Given the description of an element on the screen output the (x, y) to click on. 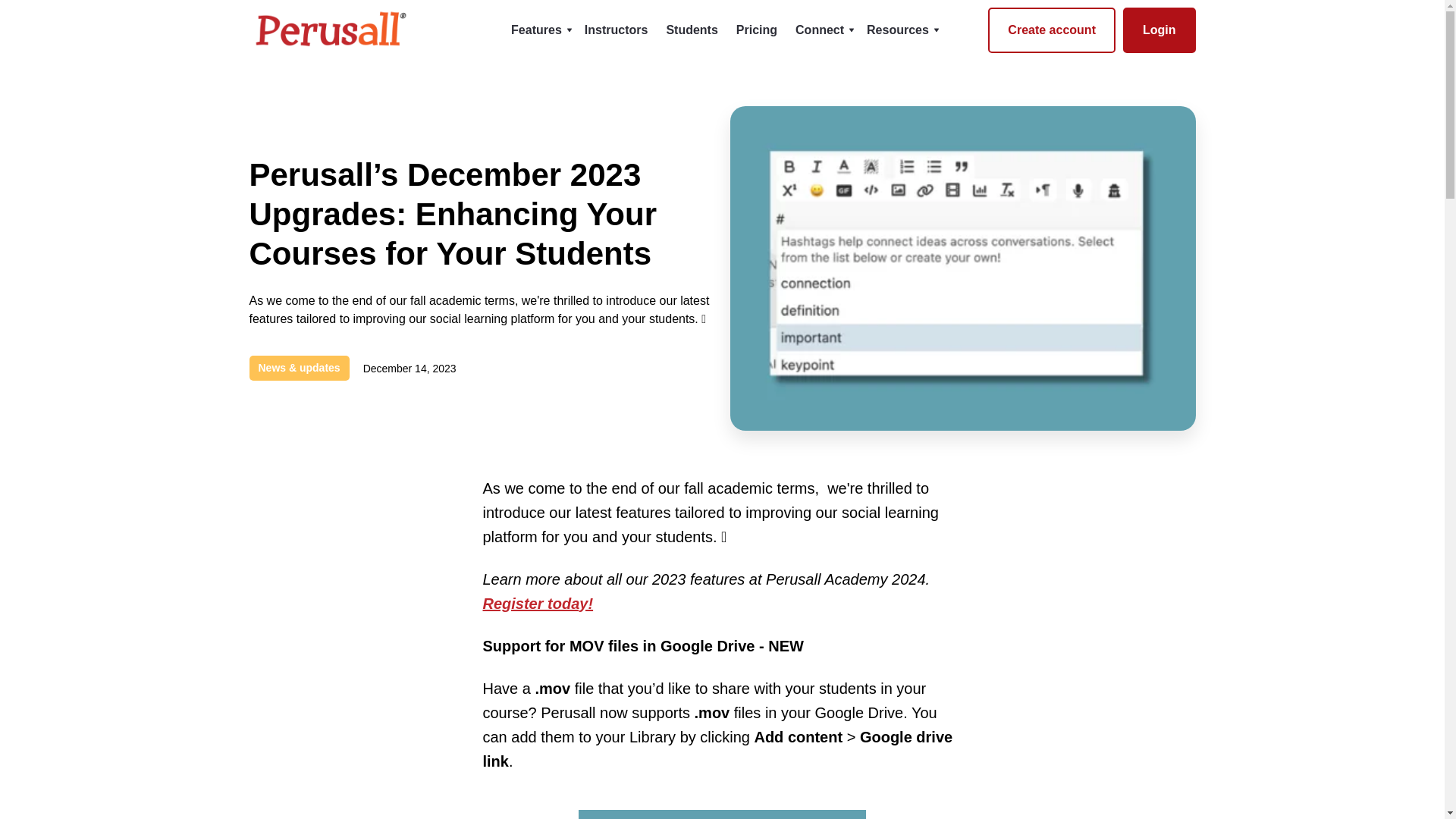
Instructors (616, 30)
Create account (1051, 30)
Pricing (756, 30)
Students (691, 30)
Login (1158, 30)
Register today! (536, 603)
